Given the description of an element on the screen output the (x, y) to click on. 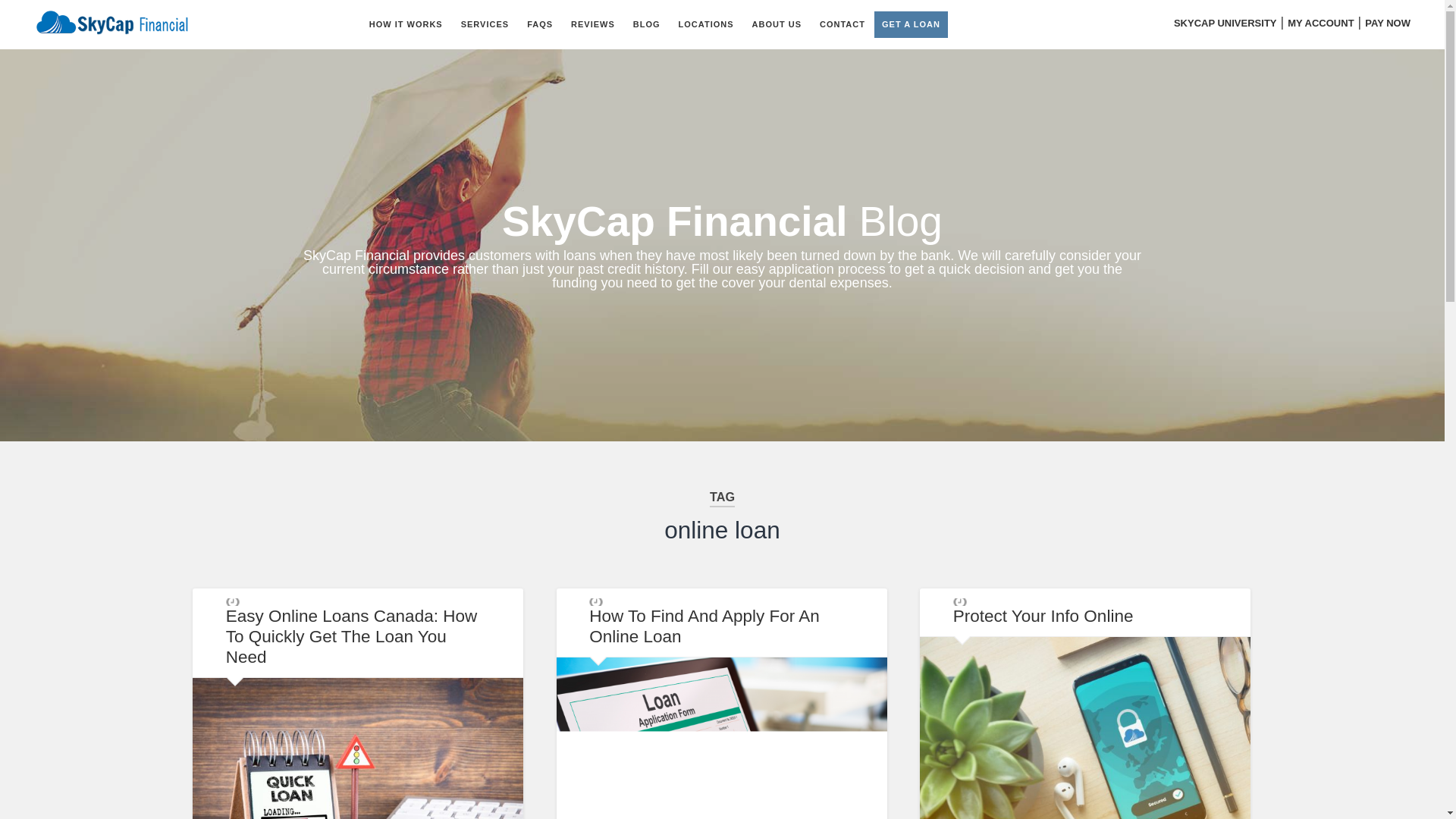
LOCATIONS (705, 24)
How To Find And Apply For An Online Loan (704, 626)
SKYCAP UNIVERSITY (1224, 22)
MY ACCOUNT (1320, 22)
ABOUT US (776, 24)
REVIEWS (593, 24)
FAQS (540, 24)
CONTACT (842, 24)
PAY NOW (1387, 22)
